Given the description of an element on the screen output the (x, y) to click on. 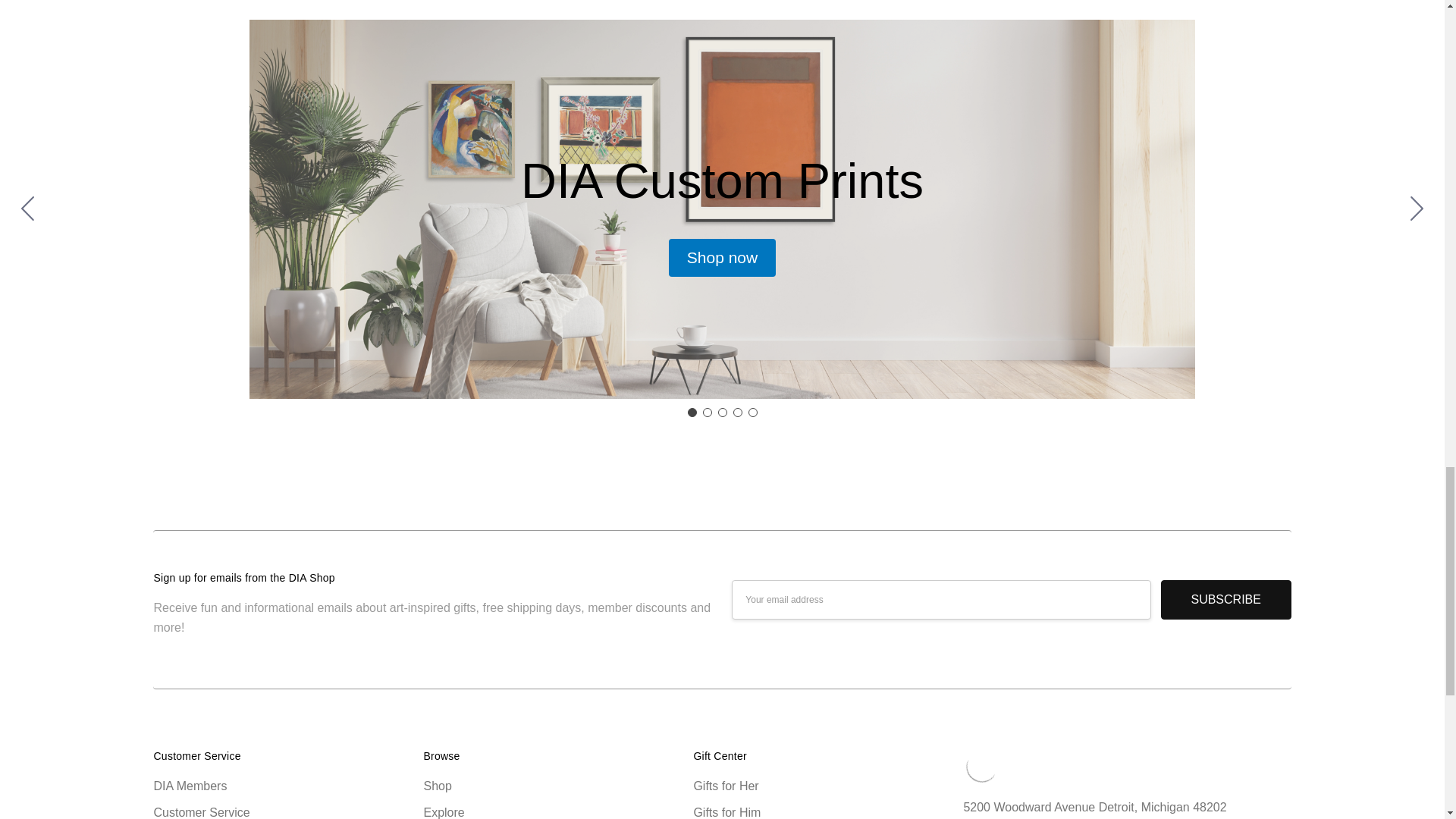
Subscribe (1225, 599)
Detroit Institute of Arts Museum Shop (981, 766)
